Given the description of an element on the screen output the (x, y) to click on. 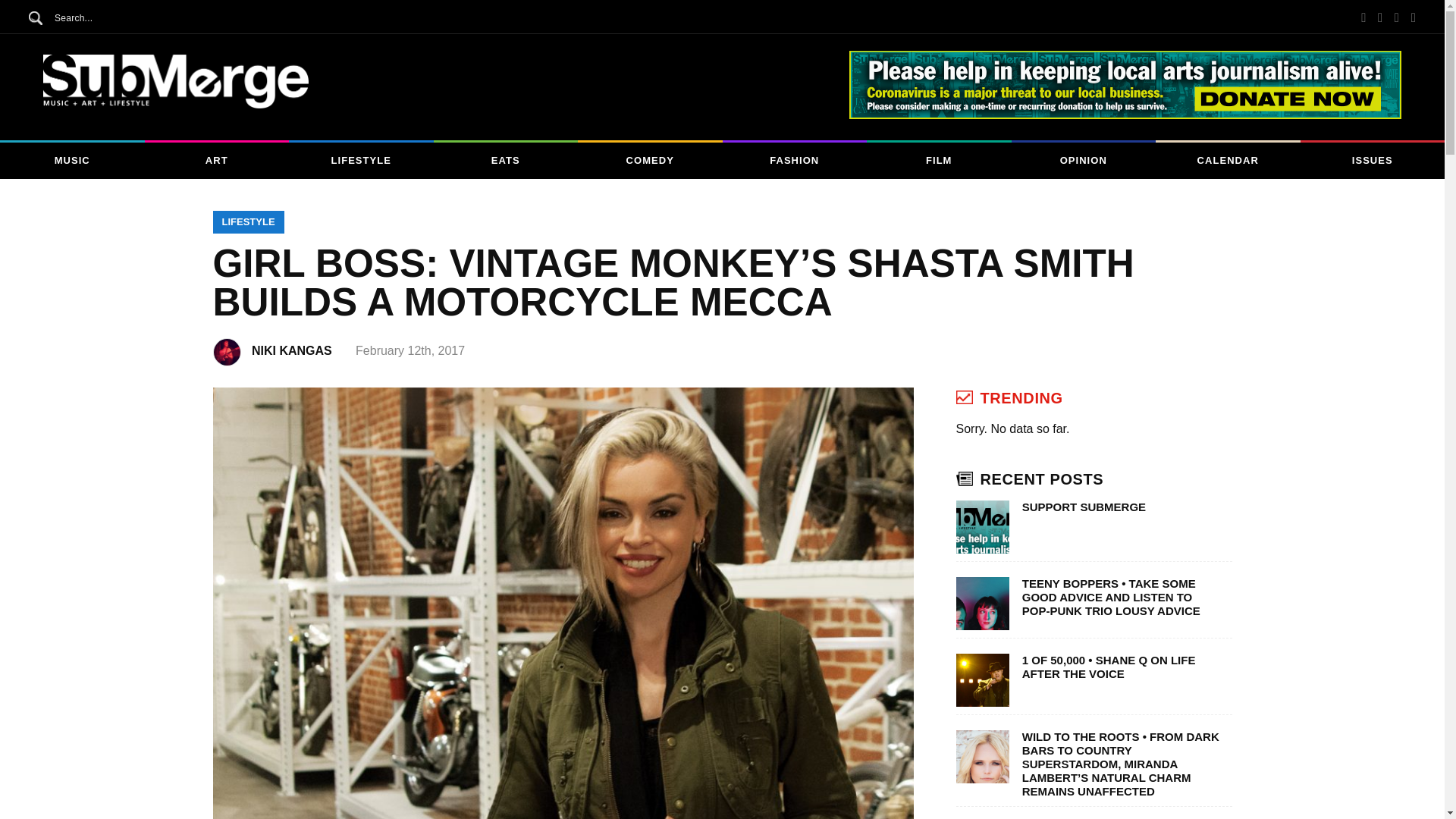
FILM (938, 160)
ART (216, 160)
LIFESTYLE (360, 160)
MUSIC (72, 160)
EATS (505, 160)
COMEDY (650, 160)
CALENDAR (1228, 160)
NIKI KANGAS (301, 350)
FASHION (794, 160)
SUPPORT SUBMERGE (1121, 507)
LIFESTYLE (247, 221)
OPINION (1083, 160)
Search... (111, 18)
